Given the description of an element on the screen output the (x, y) to click on. 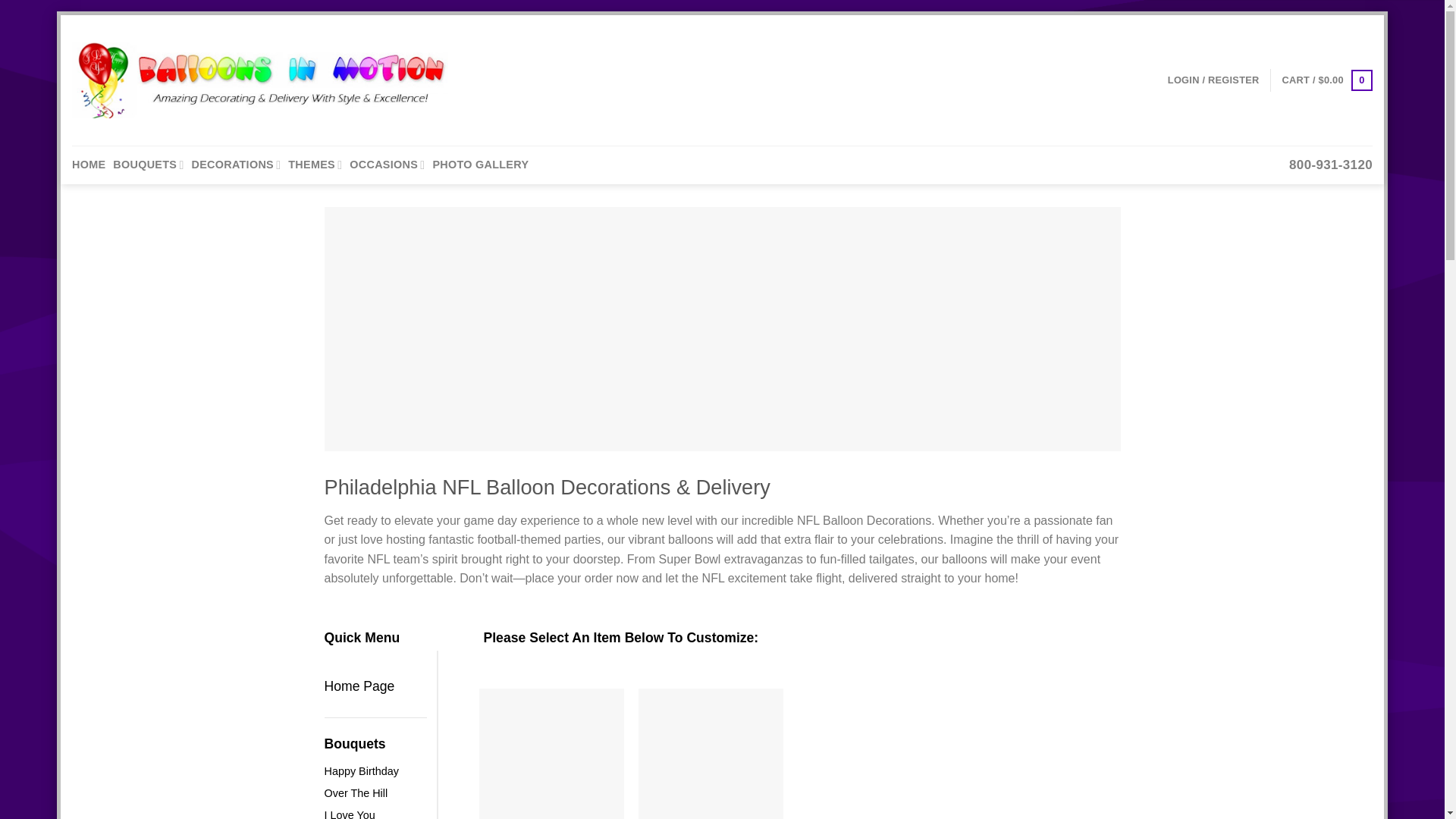
PHOTO GALLERY (480, 164)
800-931-3120 (1330, 164)
Login (1213, 80)
BOUQUETS (148, 164)
Cart (1327, 79)
DECORATIONS (236, 164)
OCCASIONS (387, 164)
THEMES (315, 164)
